Given the description of an element on the screen output the (x, y) to click on. 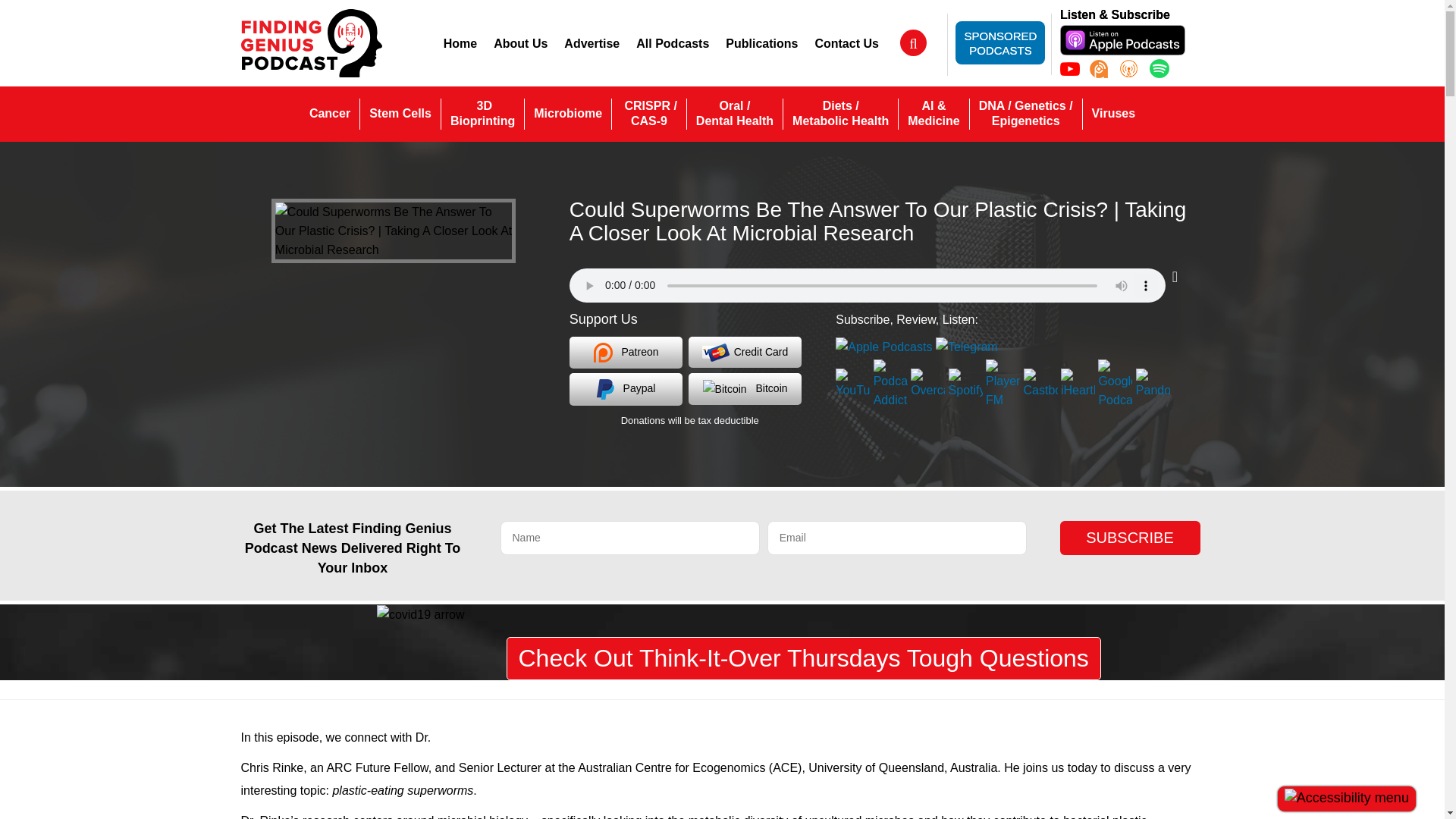
Spotify (1159, 67)
About Us (520, 43)
Publications (761, 43)
Cancer (329, 113)
Apple Podcasts (1122, 38)
All Podcasts (672, 43)
Patreon (625, 352)
Subscribe (1129, 537)
All Podcasts (672, 43)
Home (459, 43)
